Given the description of an element on the screen output the (x, y) to click on. 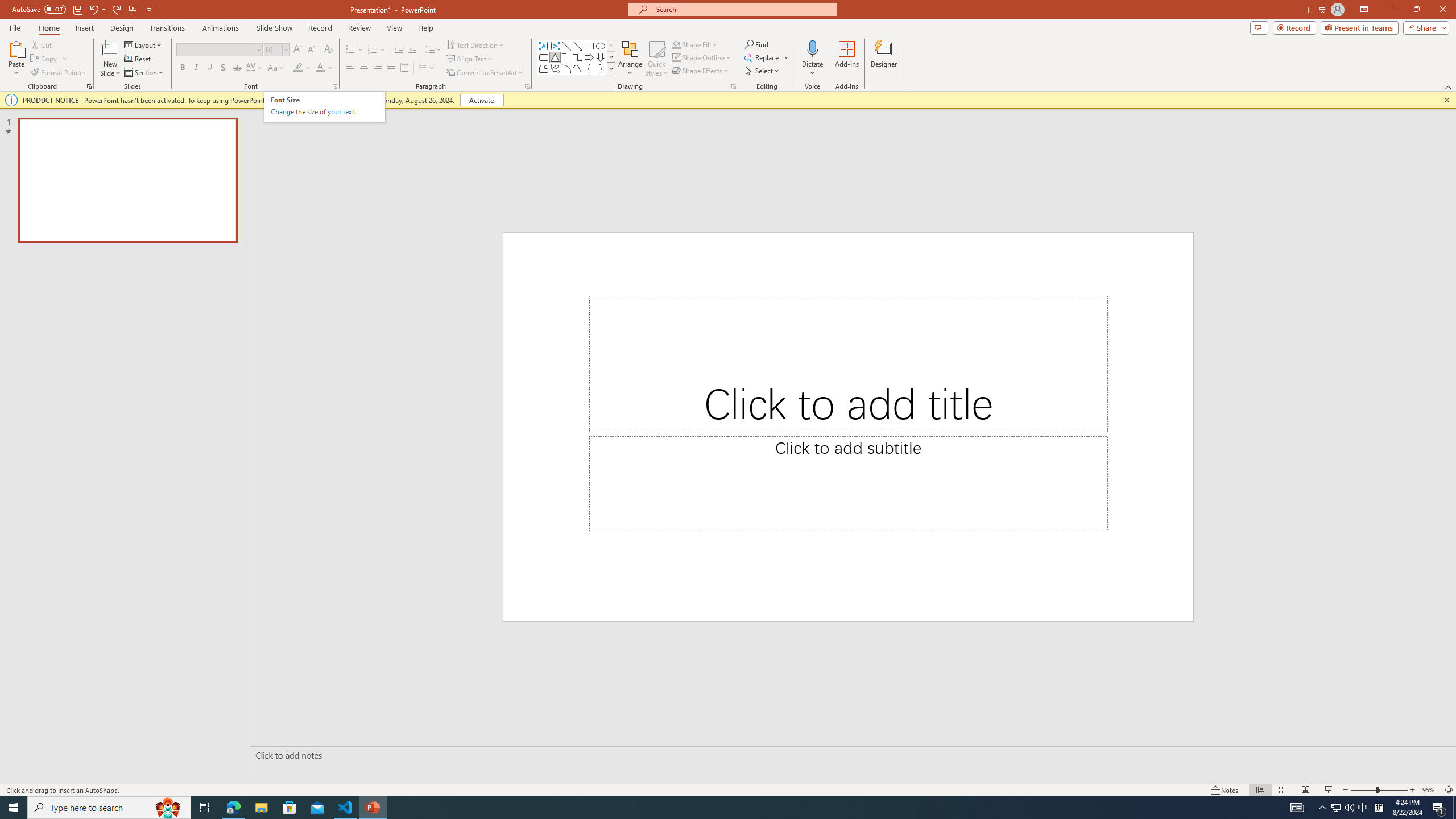
Shape Outline Dark Red, Accent 1 (675, 56)
Close this message (1446, 99)
